Given the description of an element on the screen output the (x, y) to click on. 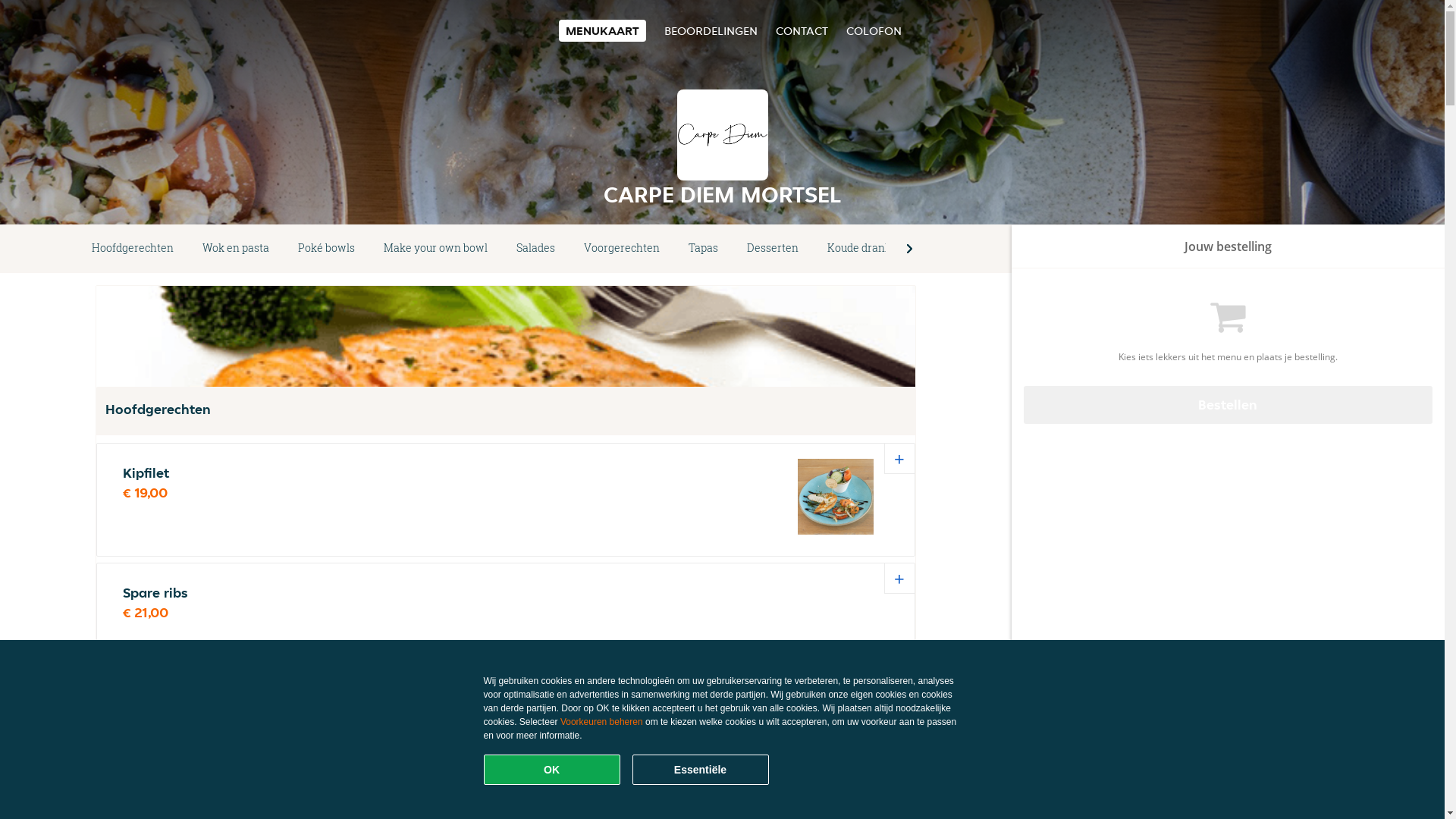
Voorgerechten Element type: text (621, 248)
BEOORDELINGEN Element type: text (710, 30)
Bestellen Element type: text (1228, 404)
MENUKAART Element type: text (601, 30)
Salades Element type: text (535, 248)
Make your own bowl Element type: text (435, 248)
Hoofdgerechten Element type: text (132, 248)
Voorkeuren beheren Element type: text (601, 721)
Koude dranken Element type: text (865, 248)
CONTACT Element type: text (801, 30)
Wok en pasta Element type: text (235, 248)
COLOFON Element type: text (873, 30)
Desserten Element type: text (772, 248)
Tapas Element type: text (703, 248)
OK Element type: text (551, 769)
